Given the description of an element on the screen output the (x, y) to click on. 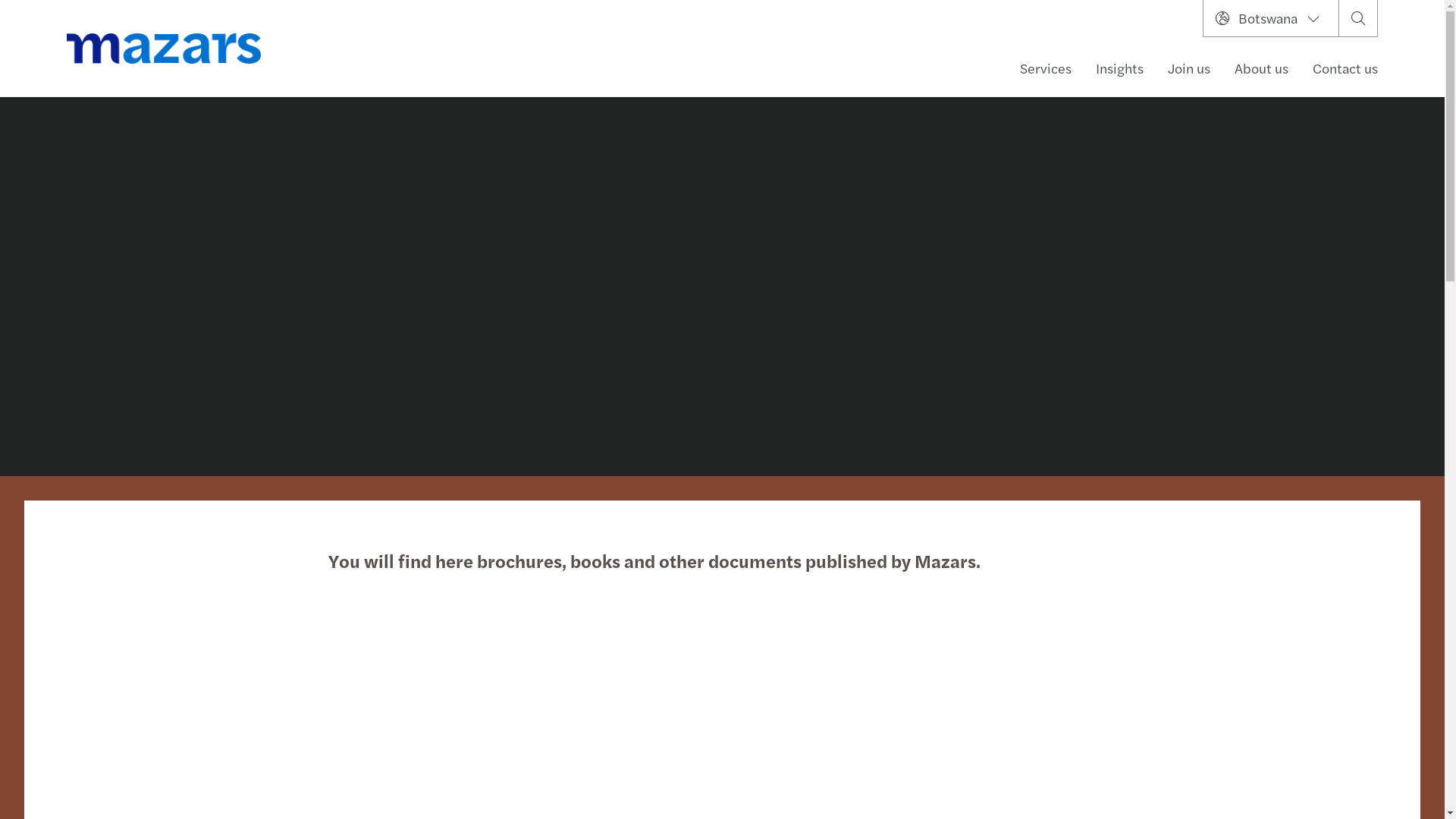
About us Element type: text (1261, 68)
Services Element type: text (1045, 68)
Botswana Element type: text (1270, 18)
Insights Element type: text (1119, 68)
Join us Element type: text (1188, 68)
